Given the description of an element on the screen output the (x, y) to click on. 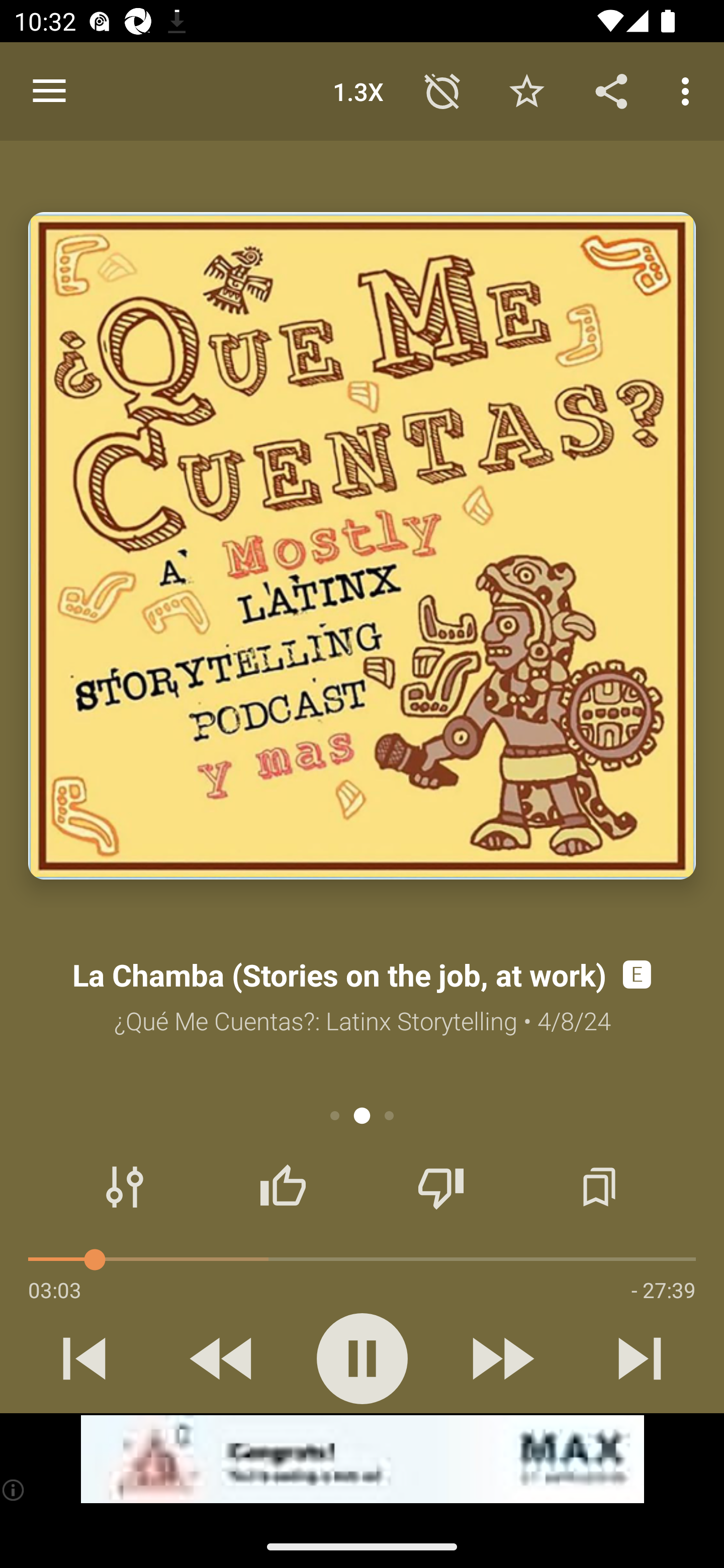
Open navigation sidebar (49, 91)
1.3X (357, 90)
Sleep Timer (442, 90)
Favorite (526, 90)
Share (611, 90)
More options (688, 90)
Episode description (361, 545)
Audio effects (124, 1186)
Thumbs up (283, 1186)
Thumbs down (440, 1186)
Chapters / Bookmarks (598, 1186)
- 27:39 (663, 1289)
Previous track (84, 1358)
Skip 15s backward (222, 1358)
Play / Pause (362, 1358)
Skip 30s forward (500, 1358)
Next track (639, 1358)
app-monetization (362, 1459)
(i) (14, 1489)
